Given the description of an element on the screen output the (x, y) to click on. 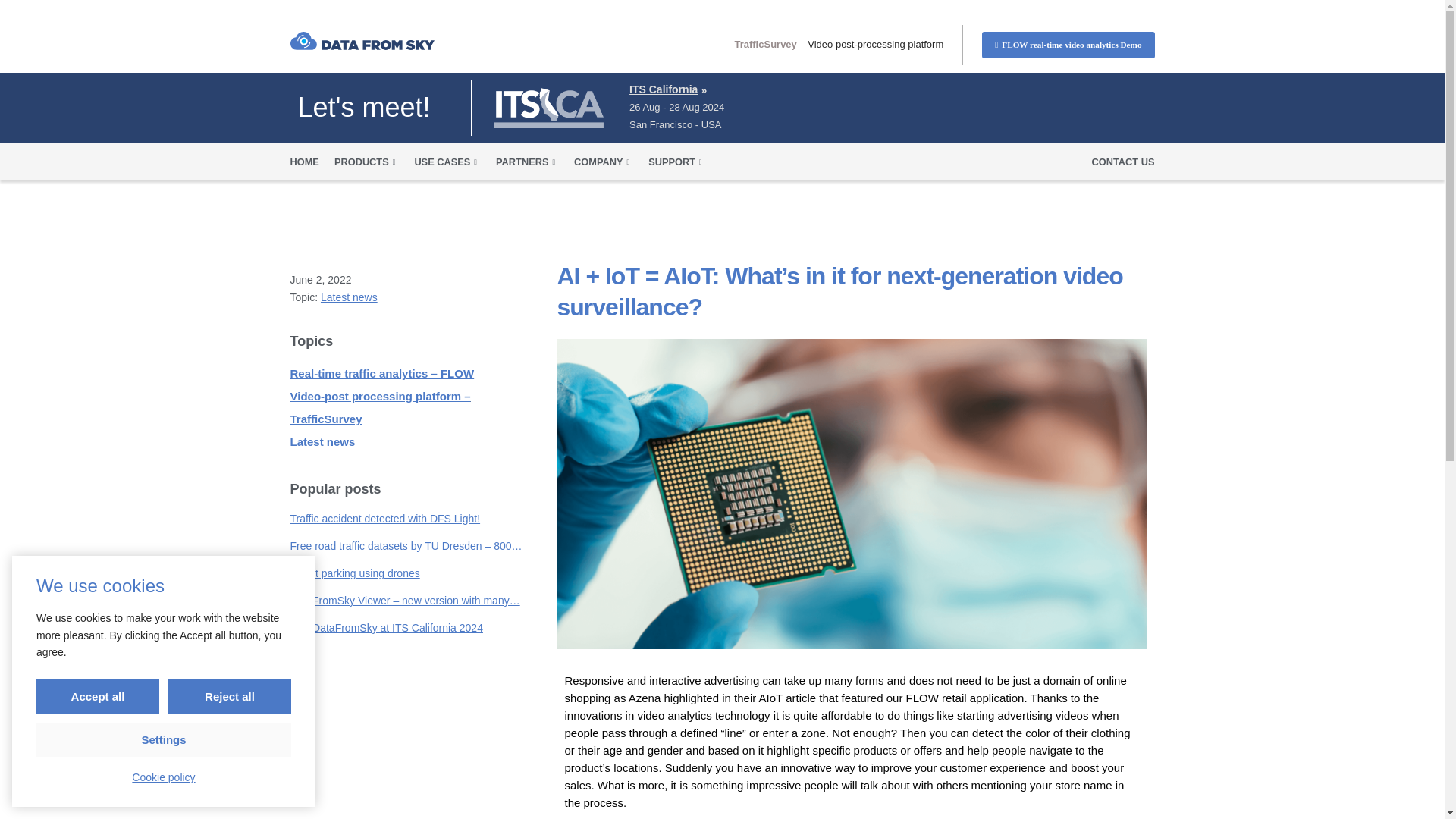
TrafficSurvey (764, 43)
PRODUCTS (366, 162)
ITS California (662, 89)
PARTNERS (527, 162)
HOME (303, 162)
SUPPORT (676, 162)
COMPANY (603, 162)
FLOW real-time video analytics Demo (1067, 44)
USE CASES (446, 162)
